Given the description of an element on the screen output the (x, y) to click on. 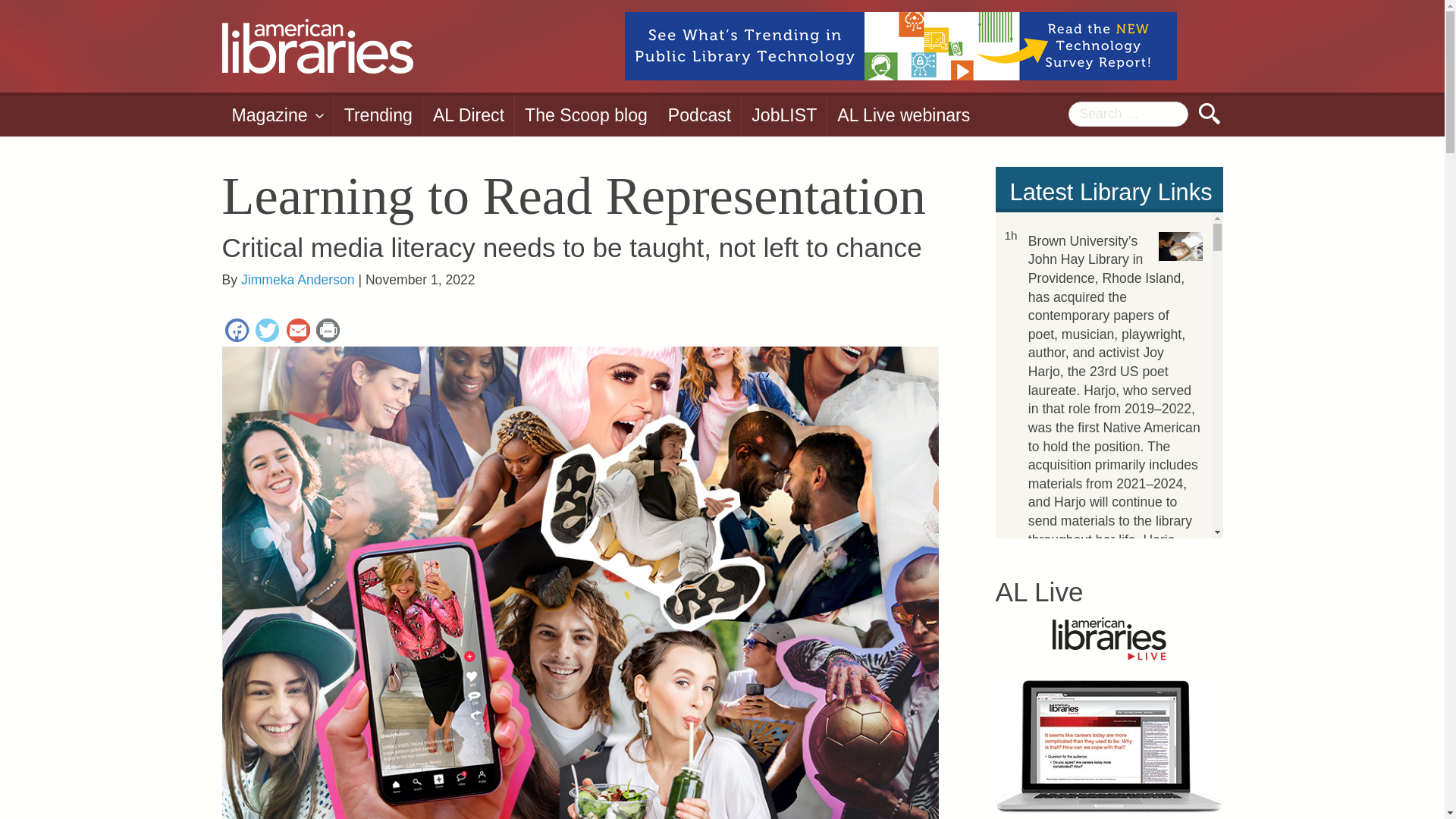
The Scoop blog (586, 115)
Jimmeka Anderson (298, 279)
Print (327, 332)
Click here for more information (900, 46)
Facebook (236, 332)
Email (297, 332)
Search (1209, 113)
Search (1209, 113)
Email (297, 332)
JobLIST (784, 115)
Facebook (236, 332)
Podcast (699, 115)
Print (327, 332)
Twitter (266, 332)
Magazine (277, 115)
